Given the description of an element on the screen output the (x, y) to click on. 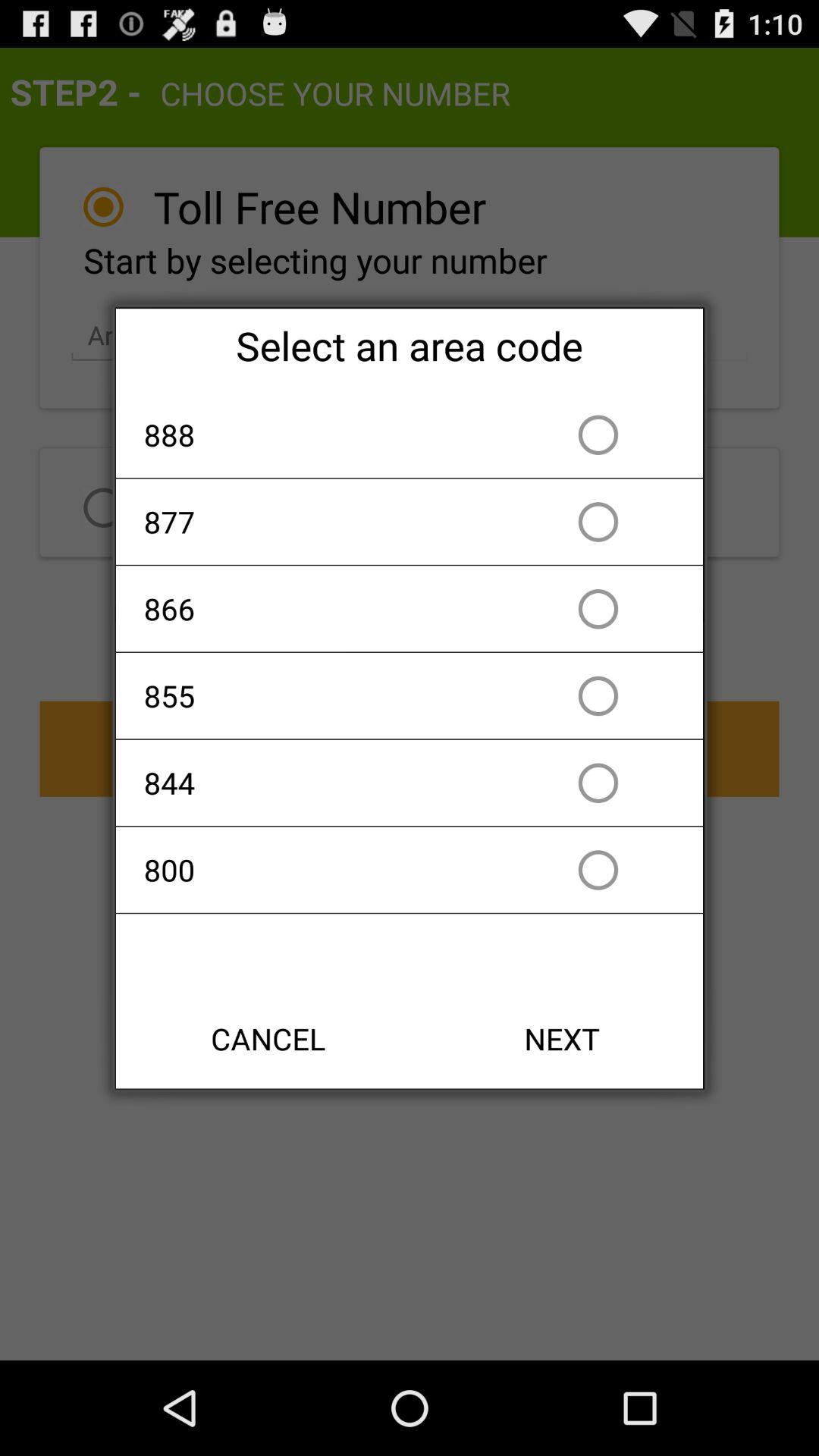
launch the item to the right of cancel item (561, 1038)
